Given the description of an element on the screen output the (x, y) to click on. 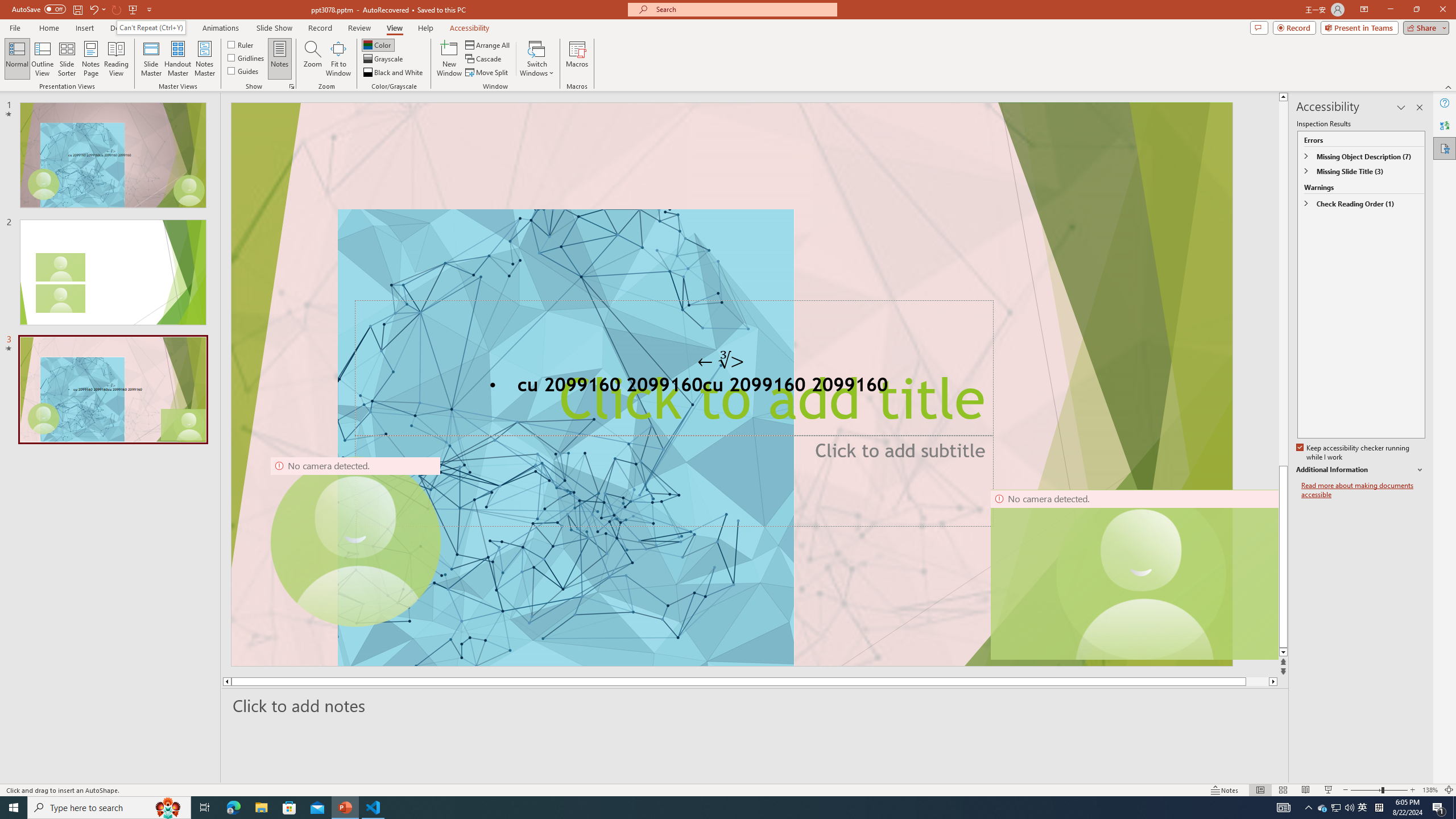
Slide Master (151, 58)
TextBox 7 (720, 360)
Notes (279, 58)
Handout Master (177, 58)
New Window (449, 58)
Move Split (487, 72)
